Given the description of an element on the screen output the (x, y) to click on. 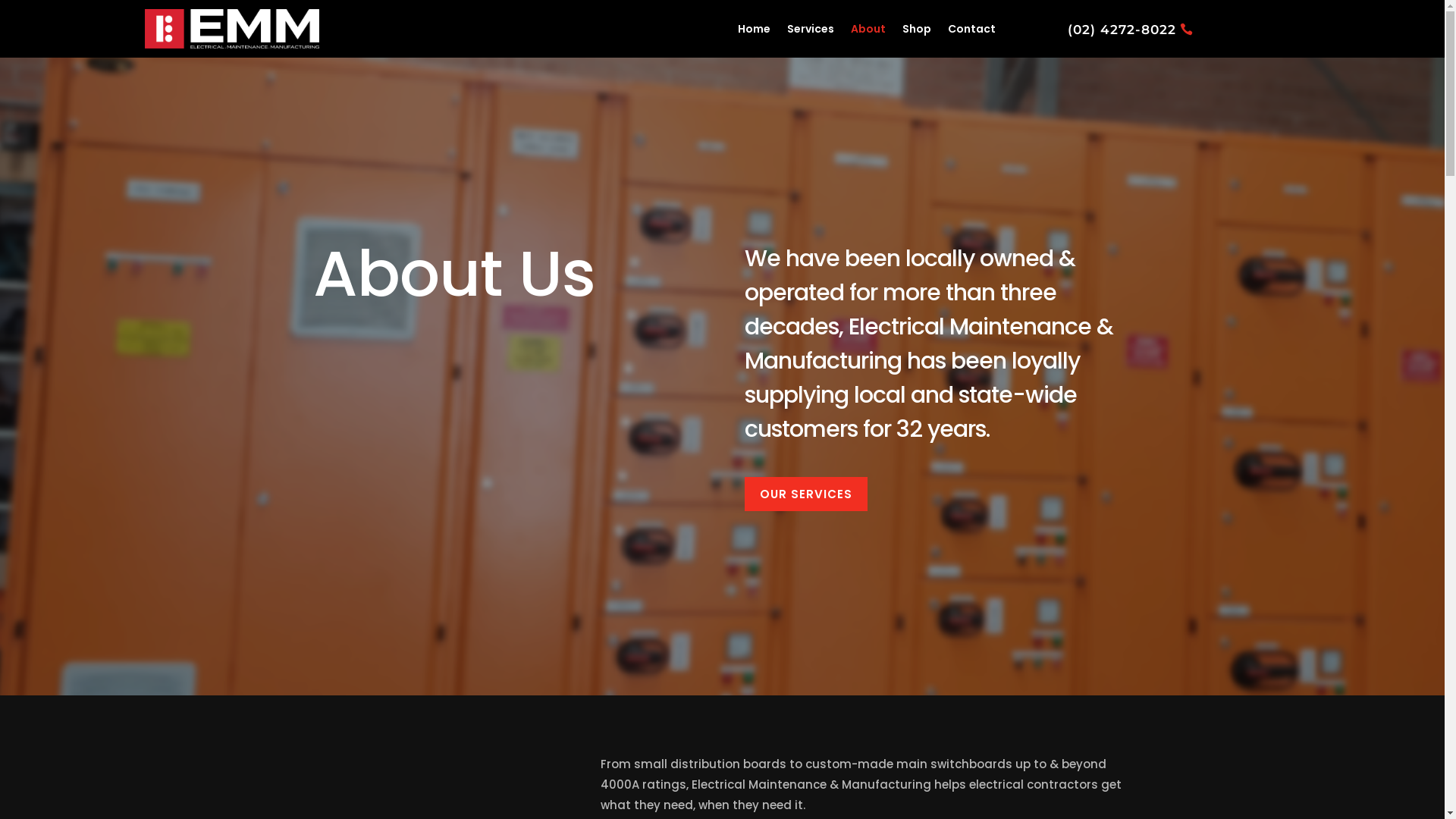
Contact Element type: text (971, 28)
Shop Element type: text (916, 28)
Home Element type: text (753, 28)
About Element type: text (867, 28)
Services Element type: text (810, 28)
OUR SERVICES Element type: text (805, 493)
(02) 4272-8022 Element type: text (1129, 29)
